Given the description of an element on the screen output the (x, y) to click on. 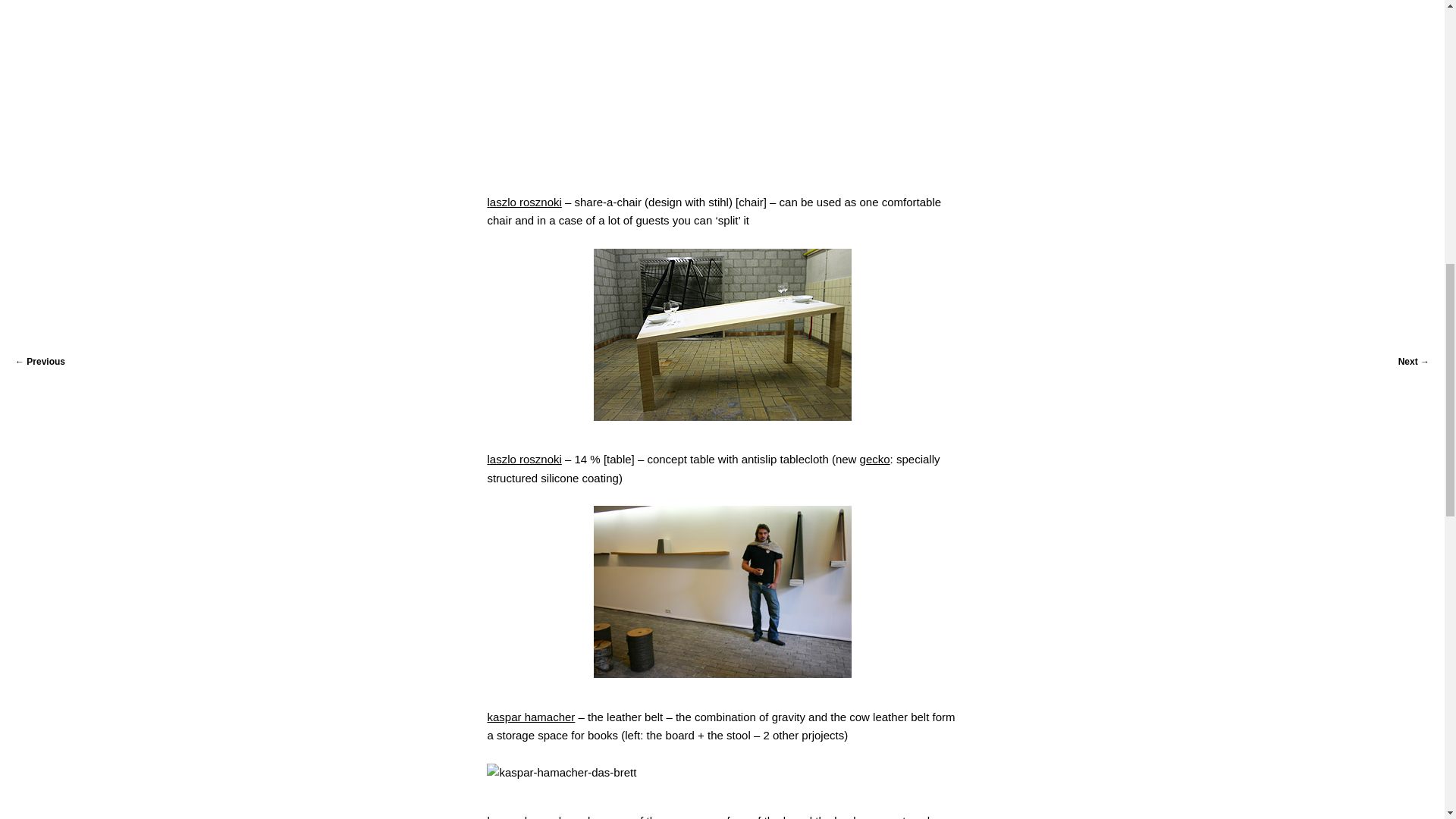
laszlo rosznoki (523, 459)
laszlo rosznoki (523, 201)
kaspar hamacher (530, 816)
gecko (874, 459)
kaspar hamacher (530, 716)
